Given the description of an element on the screen output the (x, y) to click on. 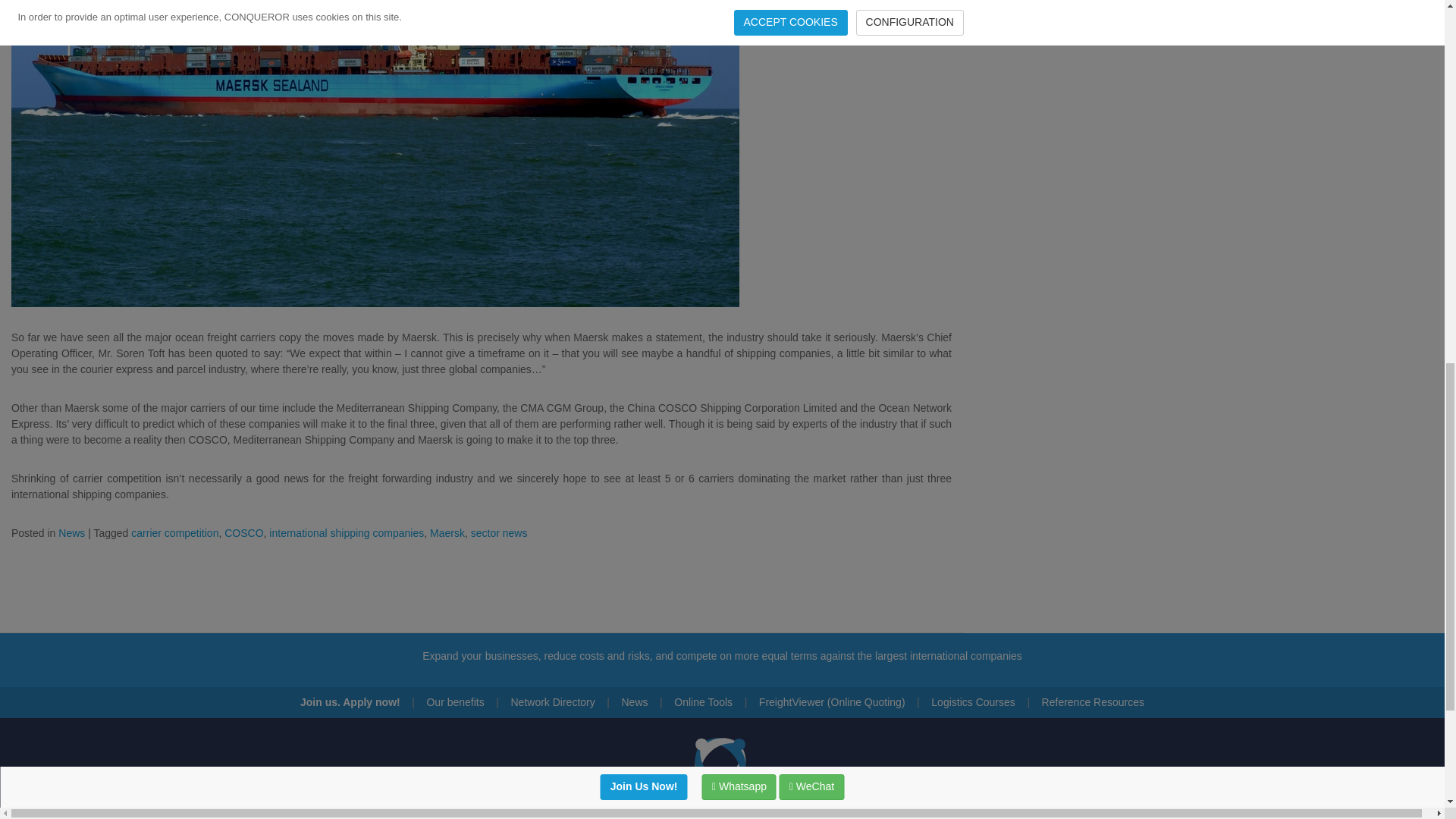
Our benefits (454, 702)
Maersk (446, 532)
Network Directory (552, 702)
international shipping companies (346, 532)
carrier competition (174, 532)
sector news (498, 532)
News (71, 532)
News (634, 702)
Join us. Apply now! (349, 702)
COSCO (243, 532)
